Given the description of an element on the screen output the (x, y) to click on. 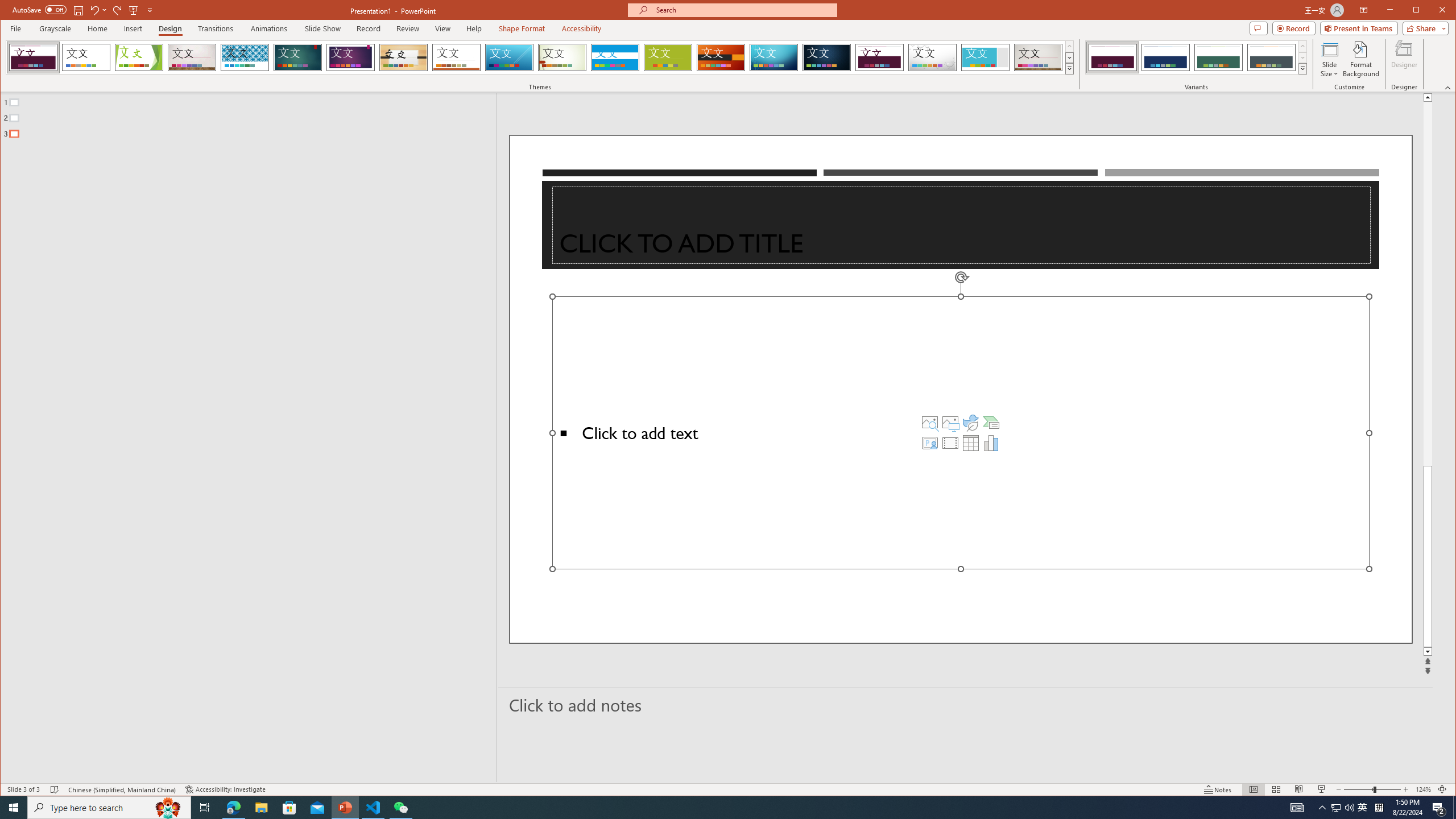
Format Background (1360, 59)
Dividend Variant 4 (1270, 57)
Dividend Variant 3 (1218, 57)
Wisp (561, 57)
Insert Cameo (929, 443)
